Given the description of an element on the screen output the (x, y) to click on. 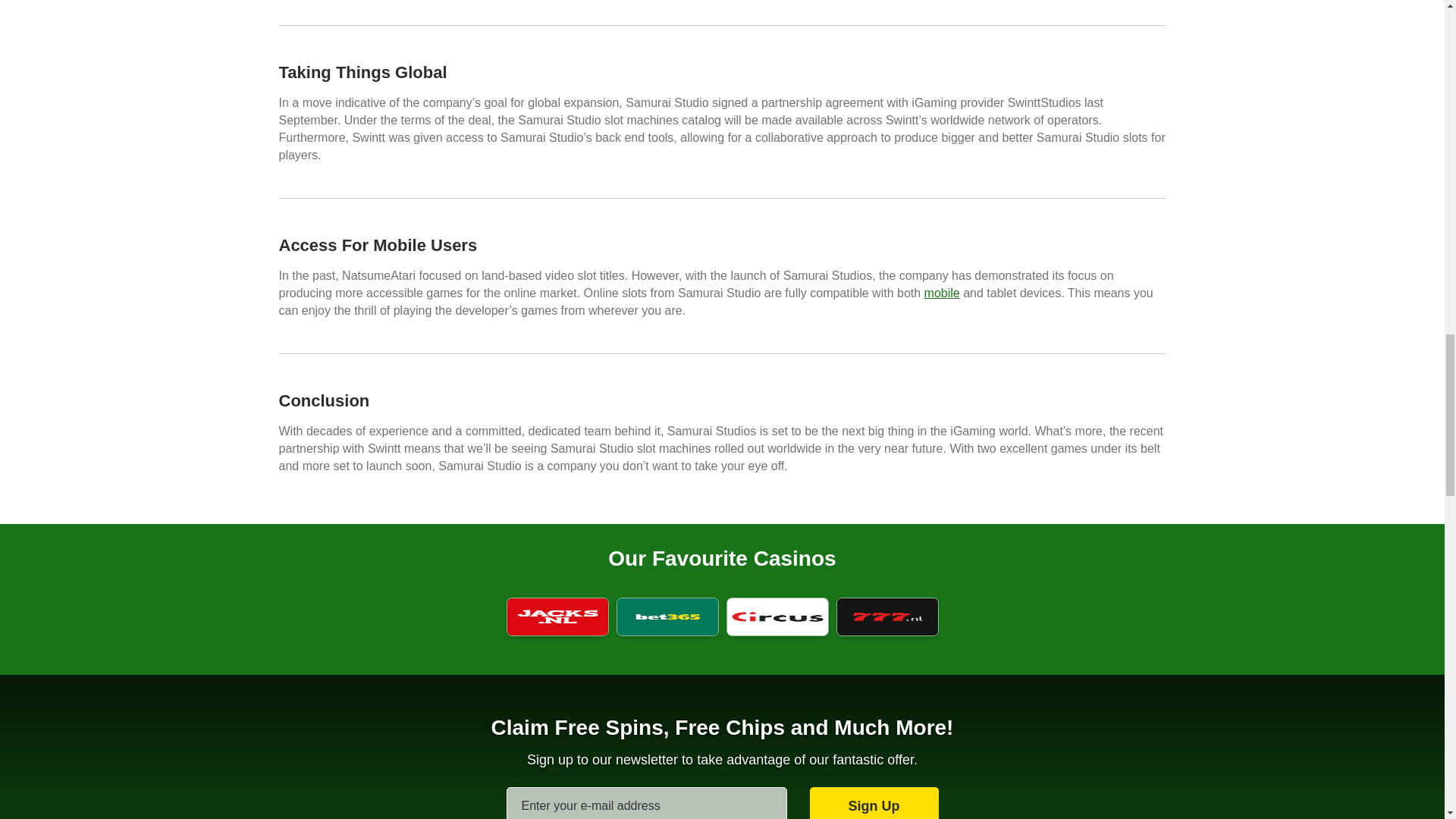
Sign Up (874, 803)
